Given the description of an element on the screen output the (x, y) to click on. 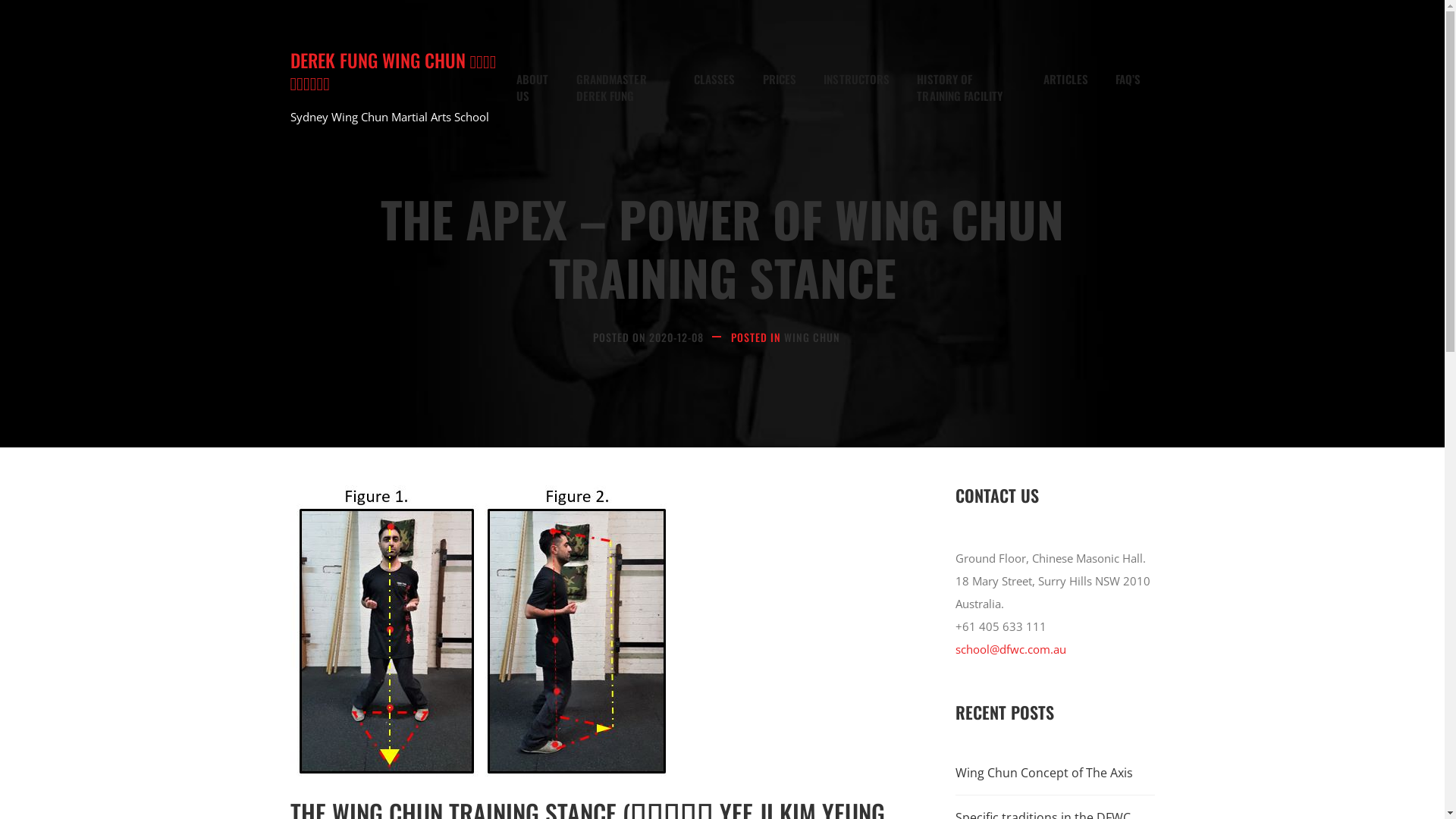
school@dfwc.com.au Element type: text (1010, 648)
INSTRUCTORS Element type: text (856, 78)
ABOUT US Element type: text (532, 87)
ARTICLES Element type: text (1065, 78)
PRICES Element type: text (779, 78)
GRANDMASTER DEREK FUNG Element type: text (621, 87)
HISTORY OF TRAINING FACILITY Element type: text (966, 87)
Wing Chun Concept of The Axis Element type: text (1054, 772)
CLASSES Element type: text (714, 78)
WING CHUN Element type: text (812, 337)
